Given the description of an element on the screen output the (x, y) to click on. 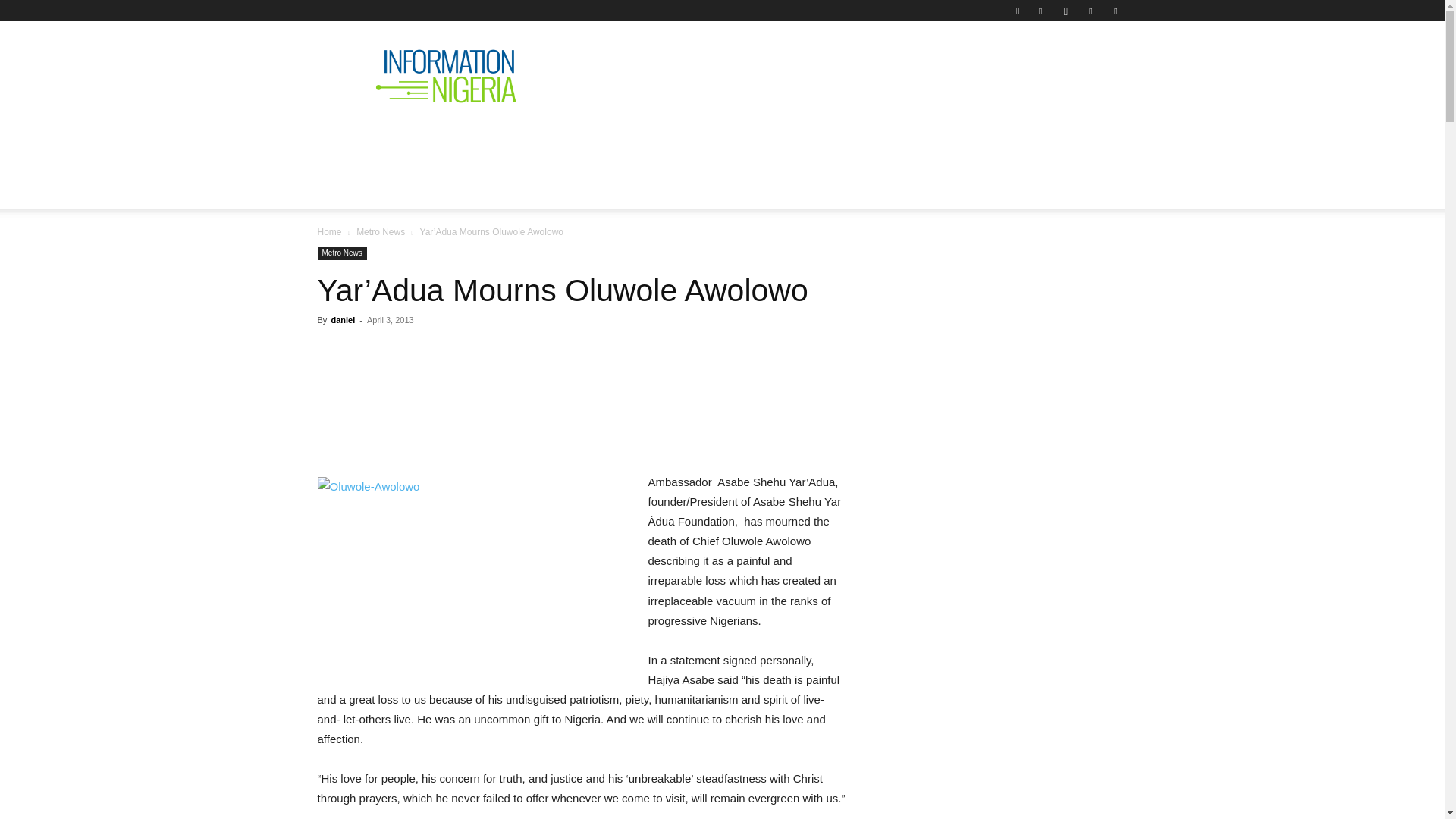
Search (1085, 64)
Nigeria News, Nigerian Newspaper (446, 76)
View all posts in Metro News (380, 231)
Instagram (1065, 10)
Twitter (1090, 10)
Youtube (1114, 10)
POLITICS (551, 139)
HOME (347, 139)
NATIONAL NEWS (444, 139)
METRO NEWS (884, 139)
